Given the description of an element on the screen output the (x, y) to click on. 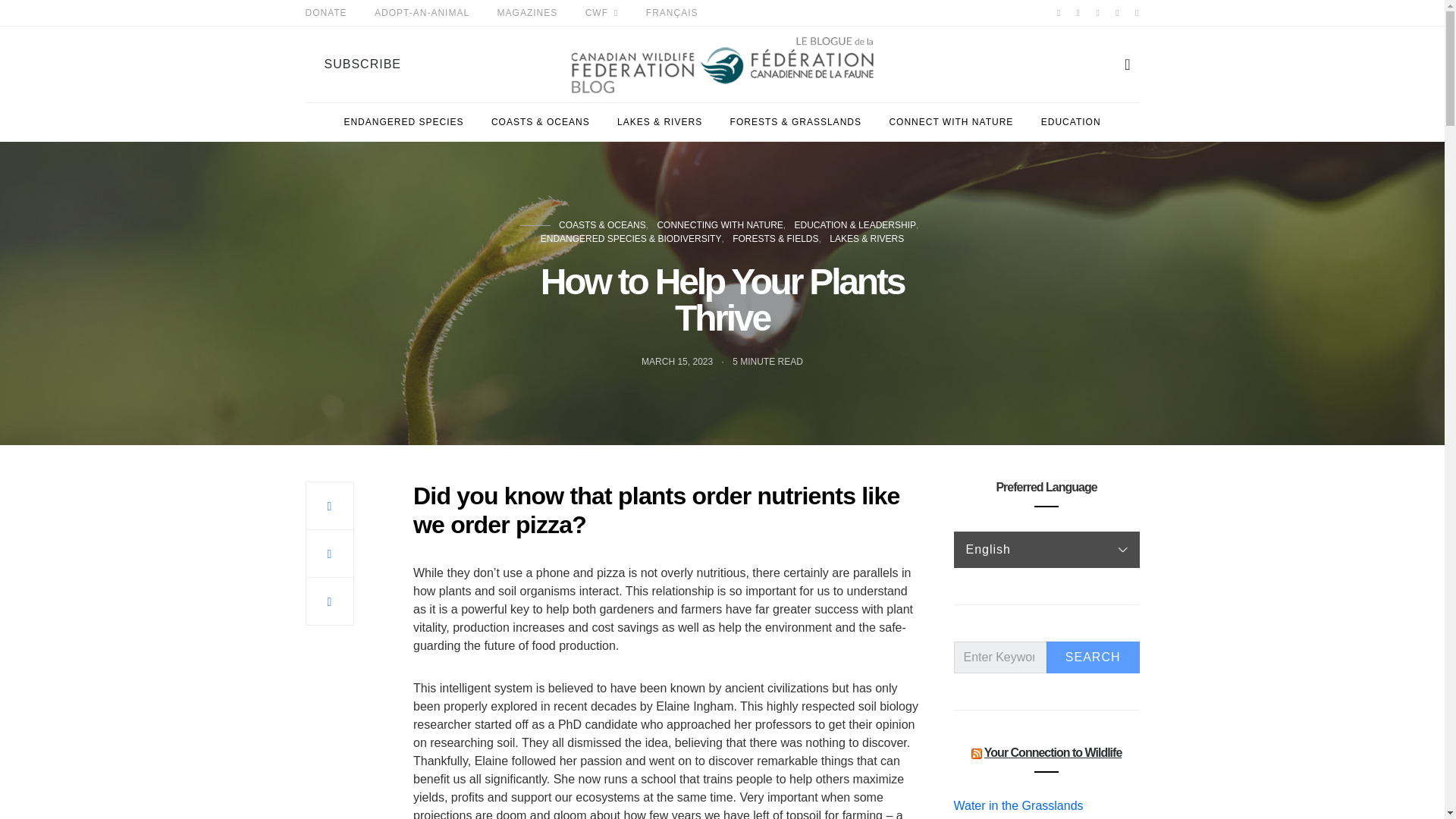
MAGAZINES (527, 12)
CONNECT WITH NATURE (950, 121)
DONATE (325, 12)
SUBSCRIBE (361, 63)
ADOPT-AN-ANIMAL (421, 12)
EDUCATION (1070, 121)
ENDANGERED SPECIES (403, 121)
CONNECTING WITH NATURE (719, 224)
CWF (601, 12)
